Given the description of an element on the screen output the (x, y) to click on. 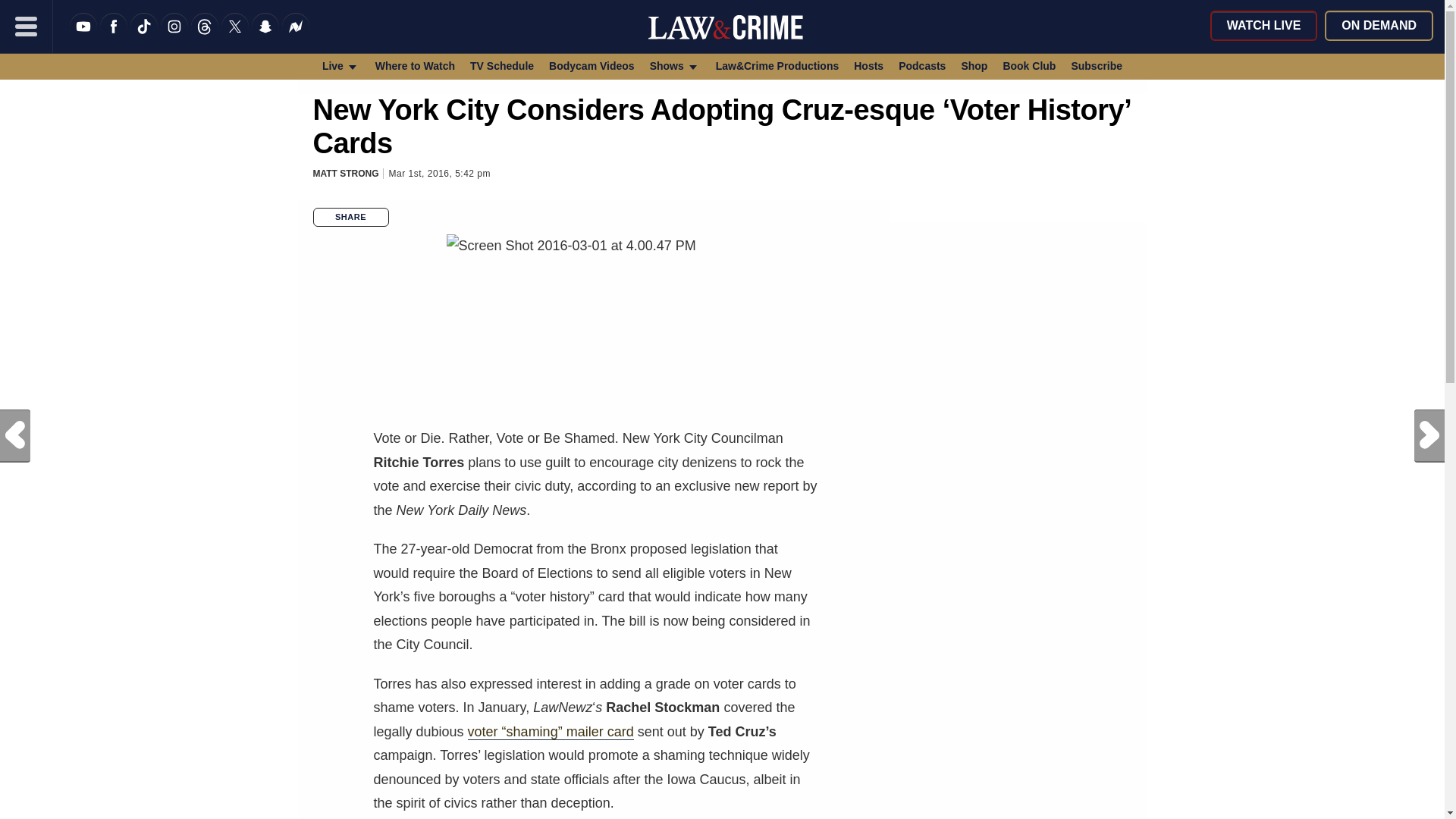
Like us on Facebook (114, 35)
Instagram (173, 35)
News Break (295, 35)
TikTok (144, 35)
Snapchat (265, 35)
Posts by Matt Strong (345, 173)
Threads (204, 35)
YouTube (83, 35)
